Given the description of an element on the screen output the (x, y) to click on. 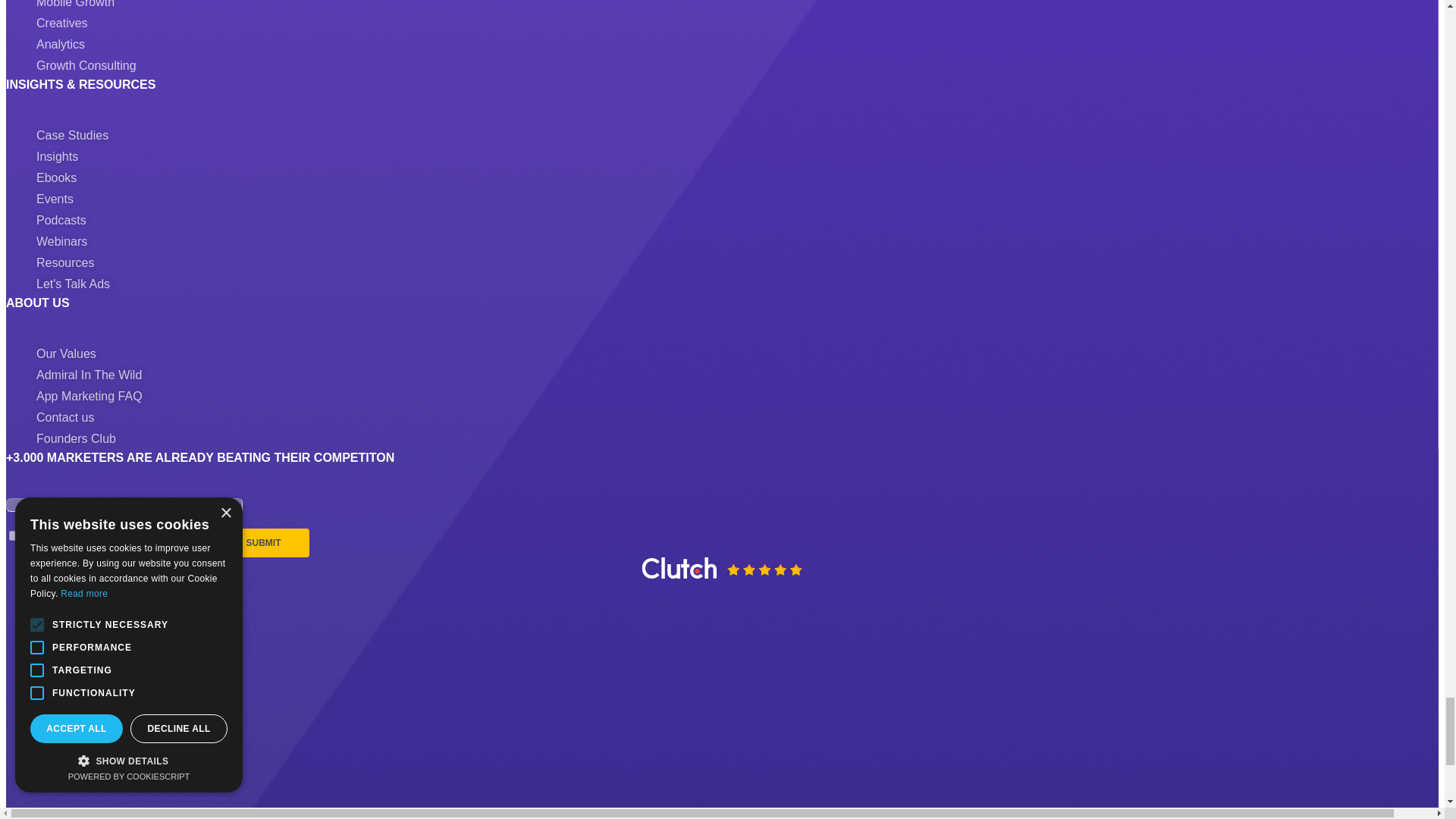
submit (263, 542)
1 (13, 535)
